Given the description of an element on the screen output the (x, y) to click on. 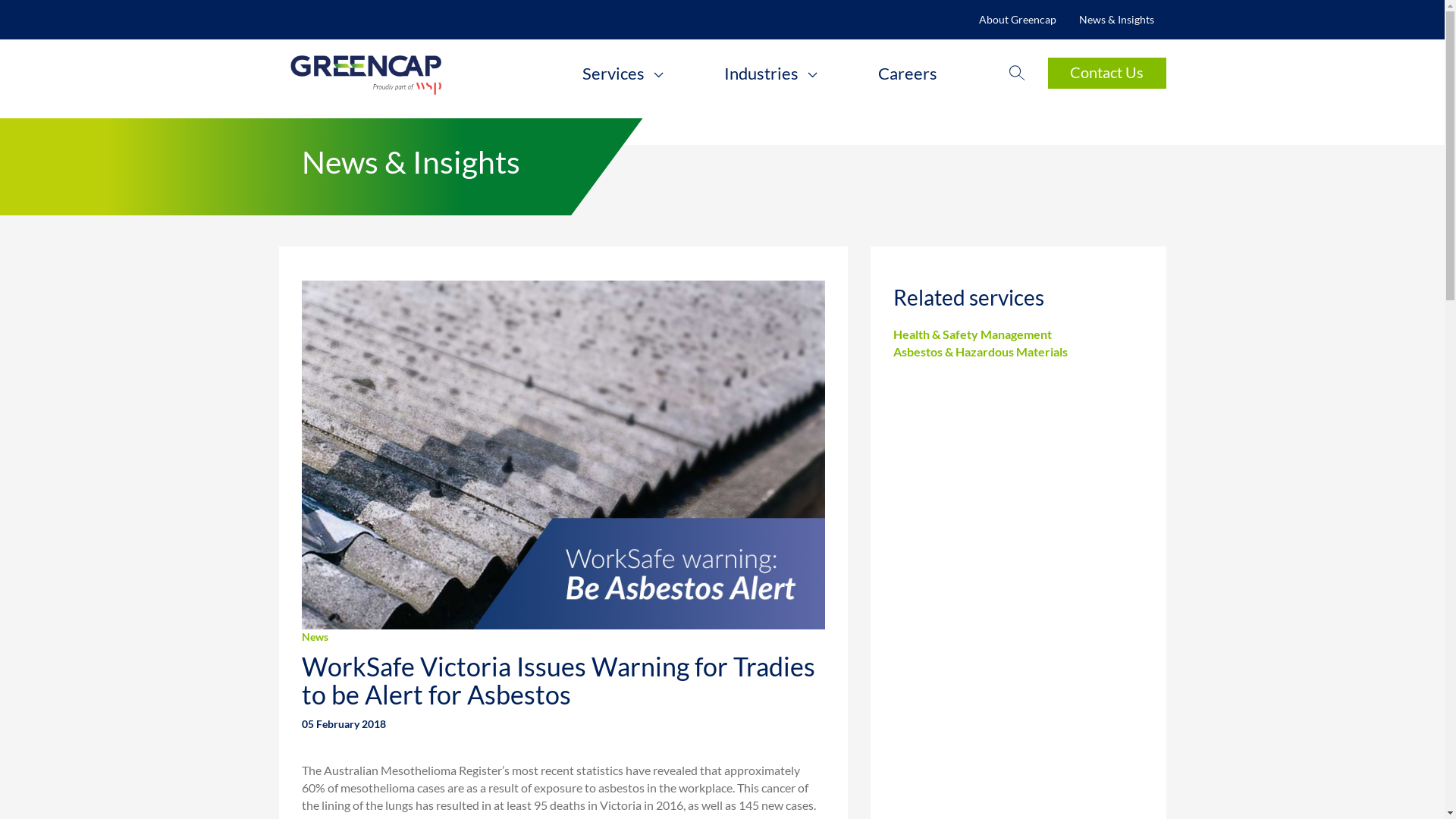
Skip to main content Element type: text (0, 0)
Services Element type: text (622, 73)
Asbestos & Hazardous Materials Element type: text (980, 351)
Home Element type: hover (406, 72)
News & Insights Element type: text (1116, 19)
Careers Element type: text (907, 73)
About Greencap Element type: text (1017, 19)
Contact Us Element type: text (1106, 72)
Health & Safety Management Element type: text (972, 333)
Industries Element type: text (770, 73)
